Given the description of an element on the screen output the (x, y) to click on. 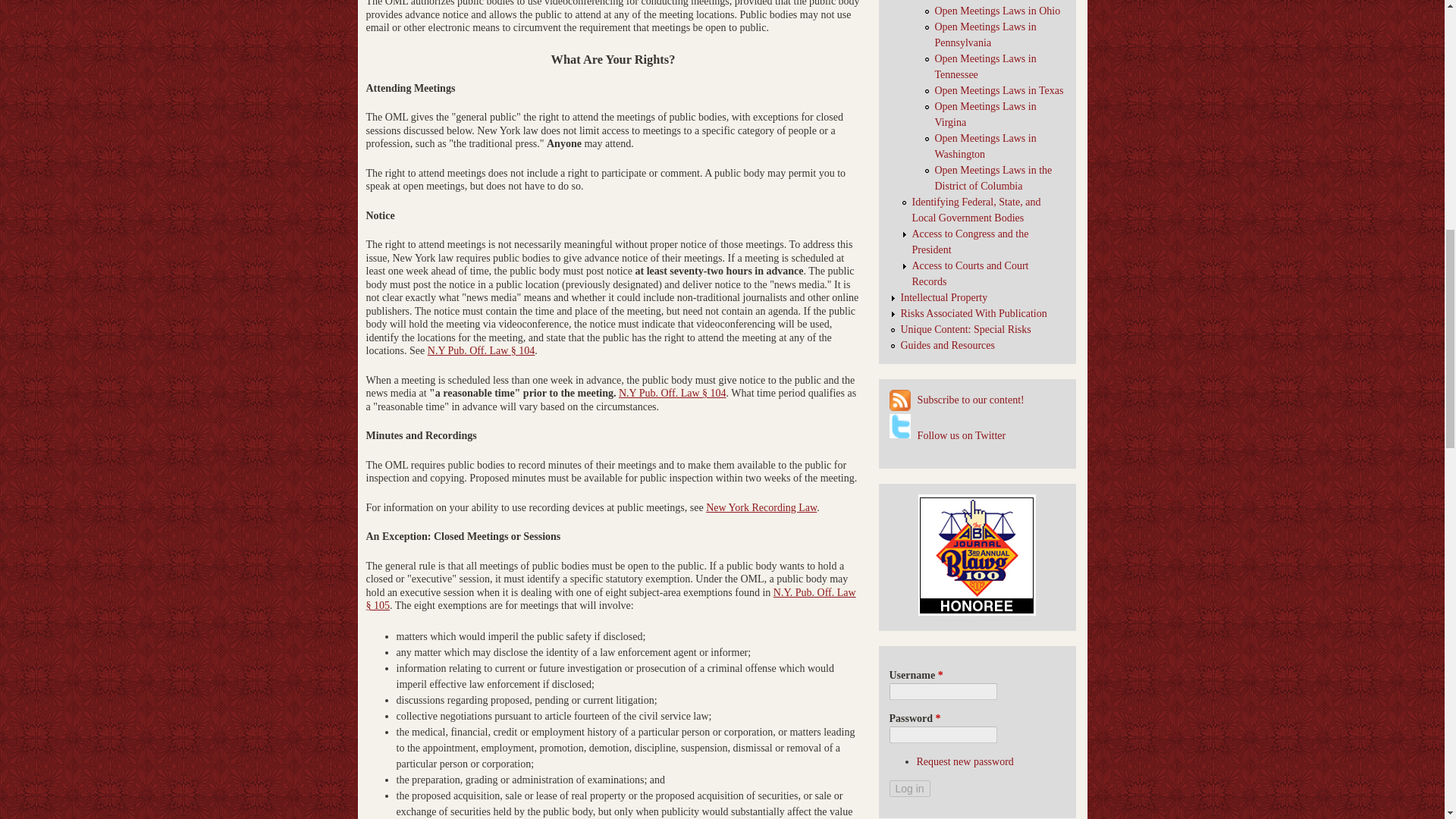
Log in (909, 788)
New York Recording Law (761, 507)
